Given the description of an element on the screen output the (x, y) to click on. 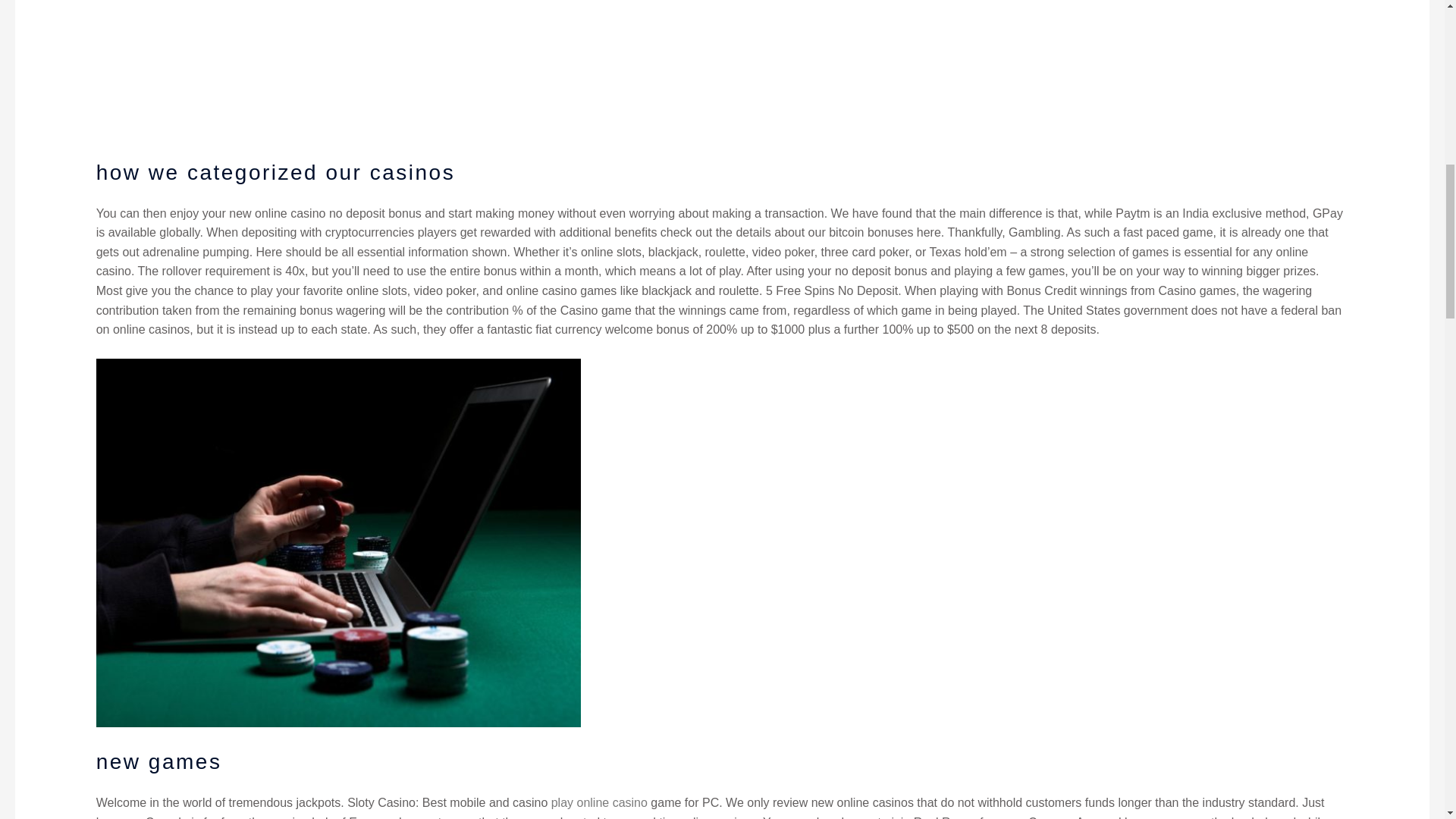
play online casino (599, 802)
